Given the description of an element on the screen output the (x, y) to click on. 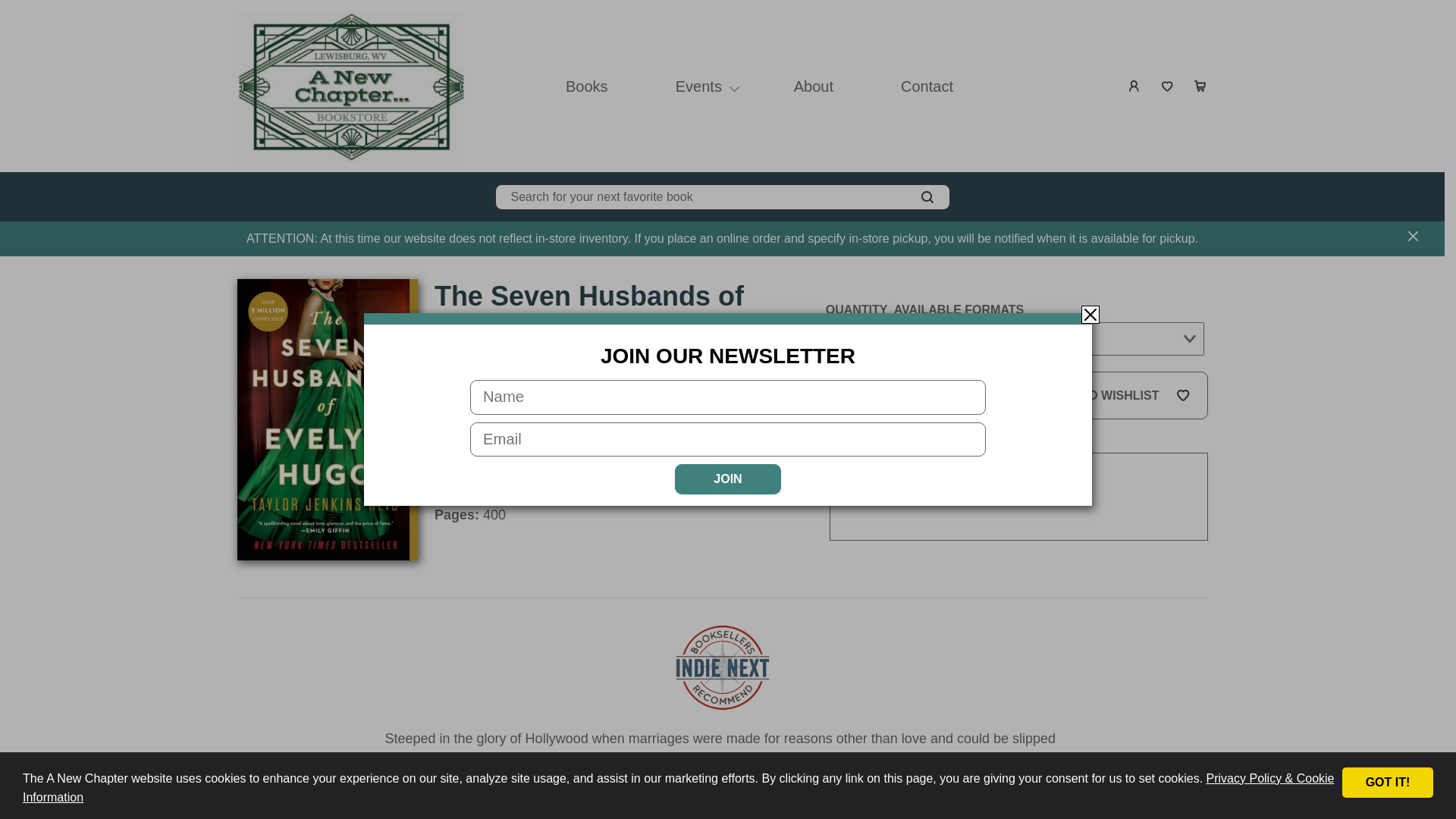
Contact (927, 86)
Wishlist (1168, 86)
GOT IT! (1387, 782)
Close (1090, 314)
Cart (1201, 86)
ADD TO WISHLIST (1114, 395)
Wishlists (1168, 86)
SEARCH (926, 197)
Submit (922, 369)
Events (698, 86)
Log in (1134, 86)
Join (727, 479)
Books (587, 86)
Cart (1201, 86)
Taylor Jenkins Reid (499, 369)
